Given the description of an element on the screen output the (x, y) to click on. 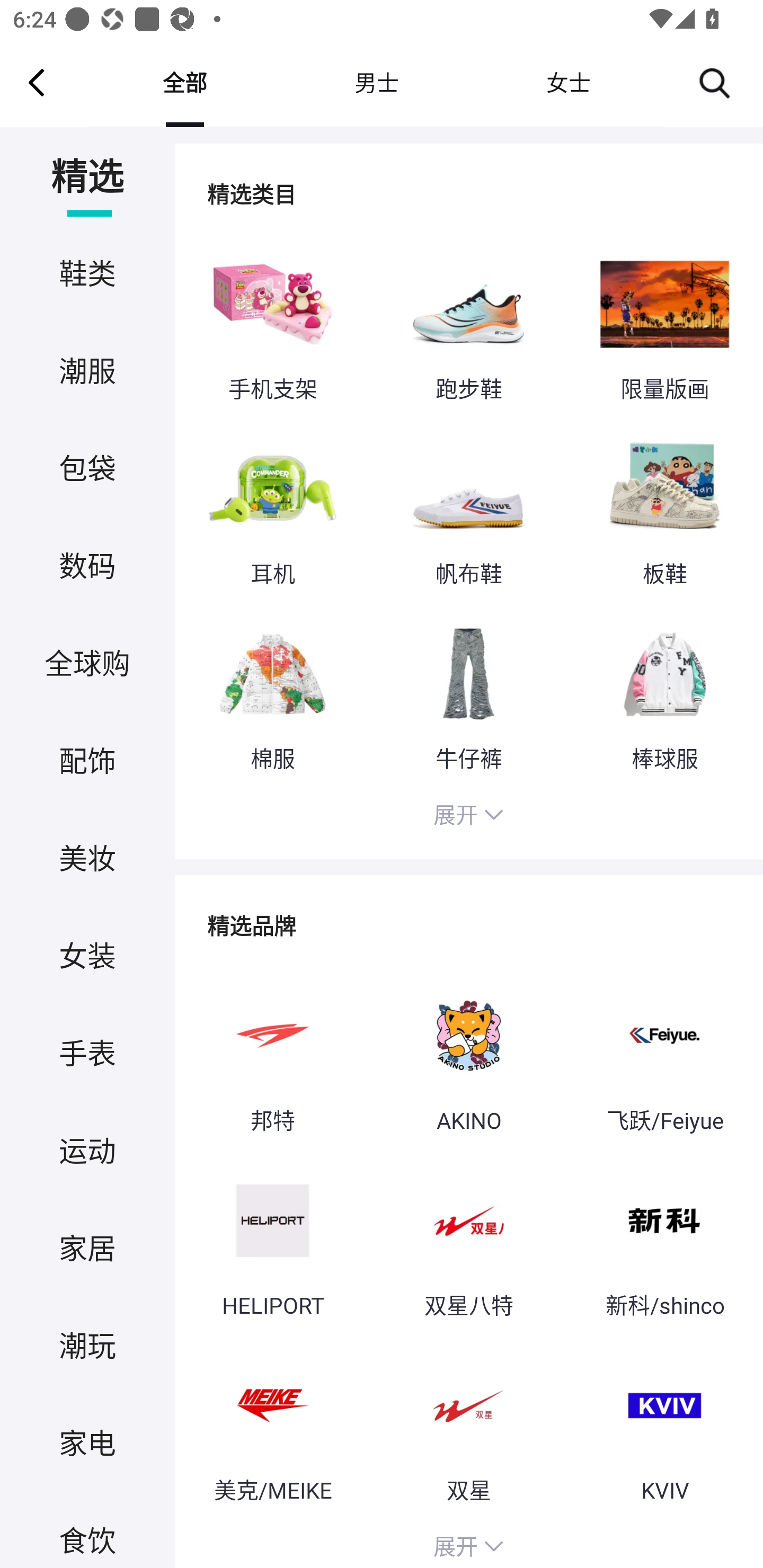
Navigate up (36, 82)
全部 (184, 82)
男士 (376, 82)
女士 (568, 82)
手机支架 (272, 325)
跑步鞋 (468, 325)
限量版画 (664, 325)
耳机 (272, 510)
帆布鞋 (468, 510)
板鞋 (664, 510)
棉服 (272, 694)
牛仔裤 (468, 694)
棒球服 (664, 694)
展开  (468, 817)
邦特 (272, 1056)
AKINO (468, 1056)
飞跃/Feiyue (664, 1056)
HELIPORT (272, 1241)
双星八特 (468, 1241)
新科/shinco (664, 1241)
美克/MEIKE (272, 1426)
双星 (468, 1426)
KVIV (664, 1426)
展开  (468, 1543)
